Given the description of an element on the screen output the (x, y) to click on. 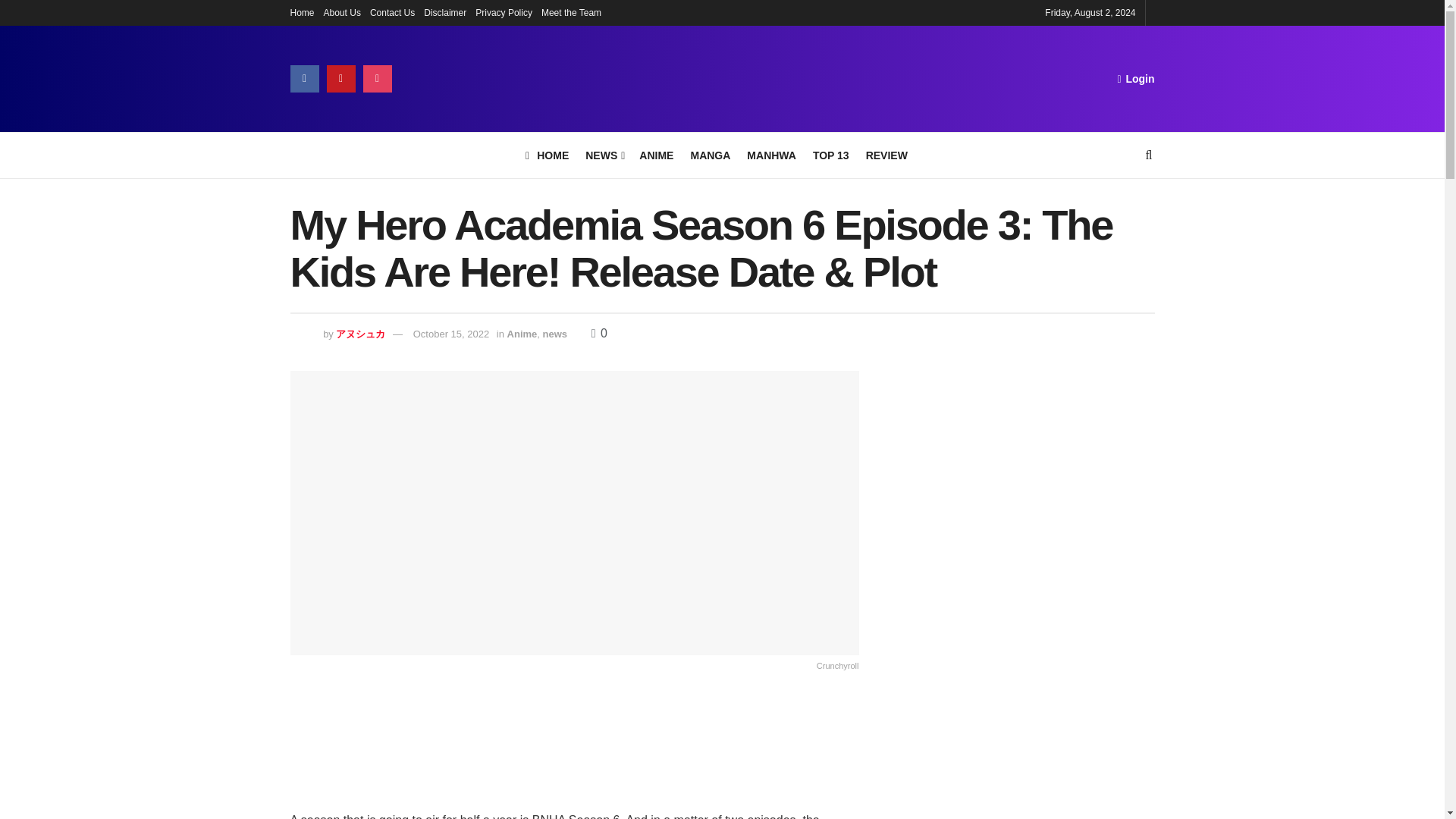
Login (1135, 78)
Contact Us (391, 12)
NEWS (604, 155)
MANGA (710, 155)
Privacy Policy (504, 12)
REVIEW (886, 155)
ANIME (655, 155)
HOME (547, 155)
About Us (342, 12)
Disclaimer (444, 12)
Home (301, 12)
TOP 13 (830, 155)
MANHWA (771, 155)
Meet the Team (571, 12)
